Given the description of an element on the screen output the (x, y) to click on. 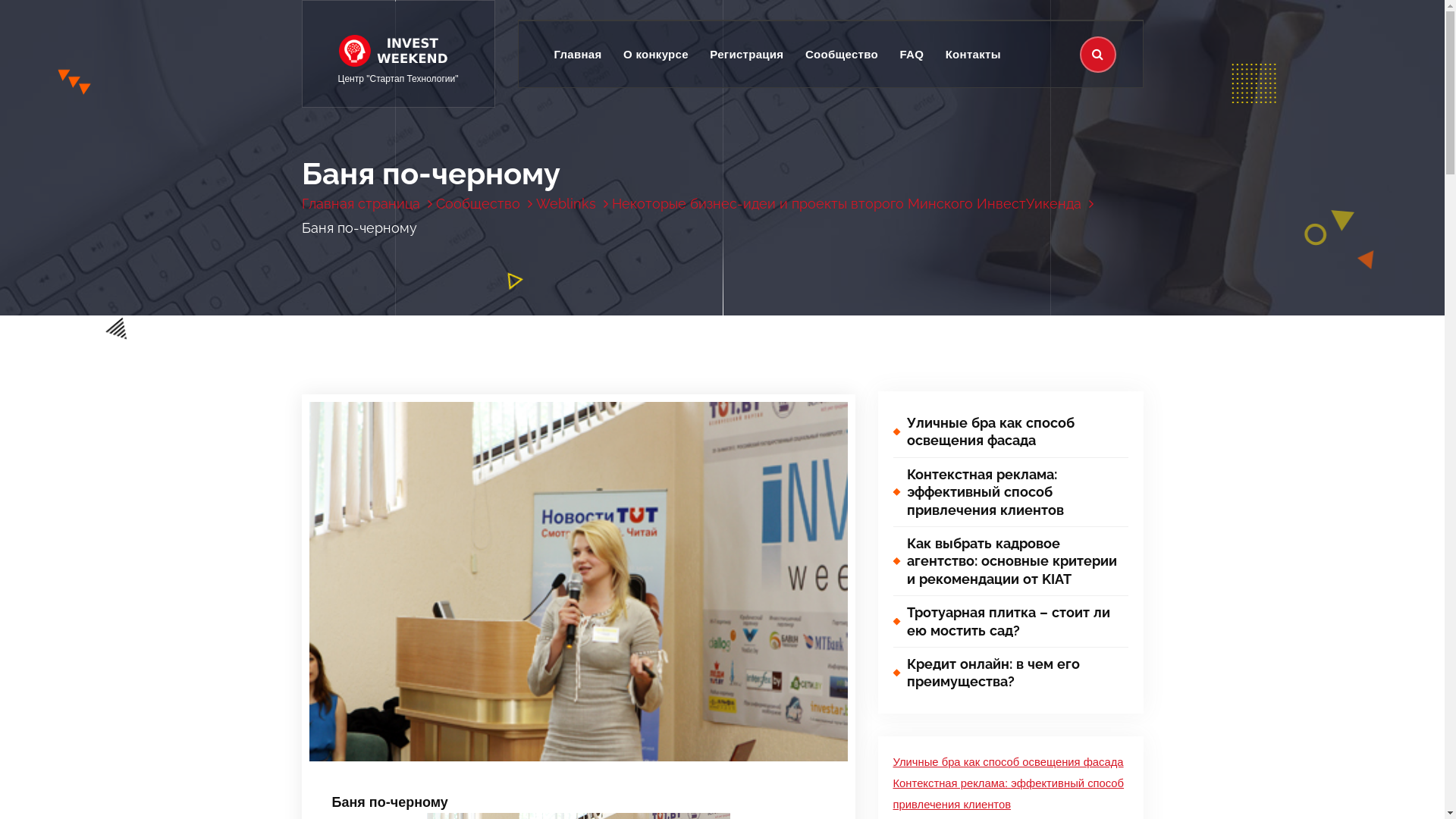
Weblinks Element type: text (571, 203)
FAQ Element type: text (911, 54)
